Given the description of an element on the screen output the (x, y) to click on. 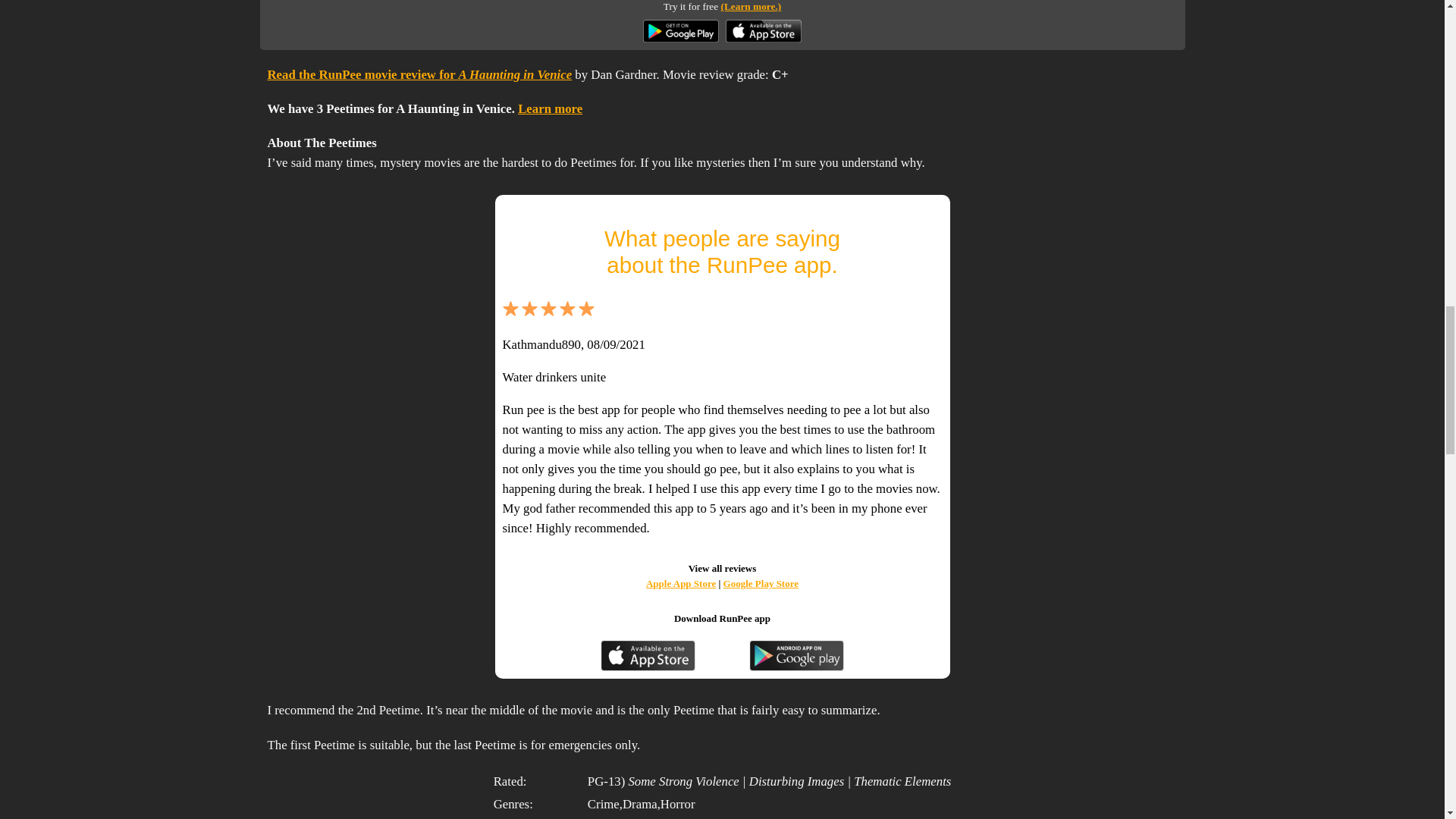
Learn more (550, 108)
Read the RunPee movie review for A Haunting in Venice (419, 74)
Google Play Store (760, 583)
Apple App Store (681, 583)
